Given the description of an element on the screen output the (x, y) to click on. 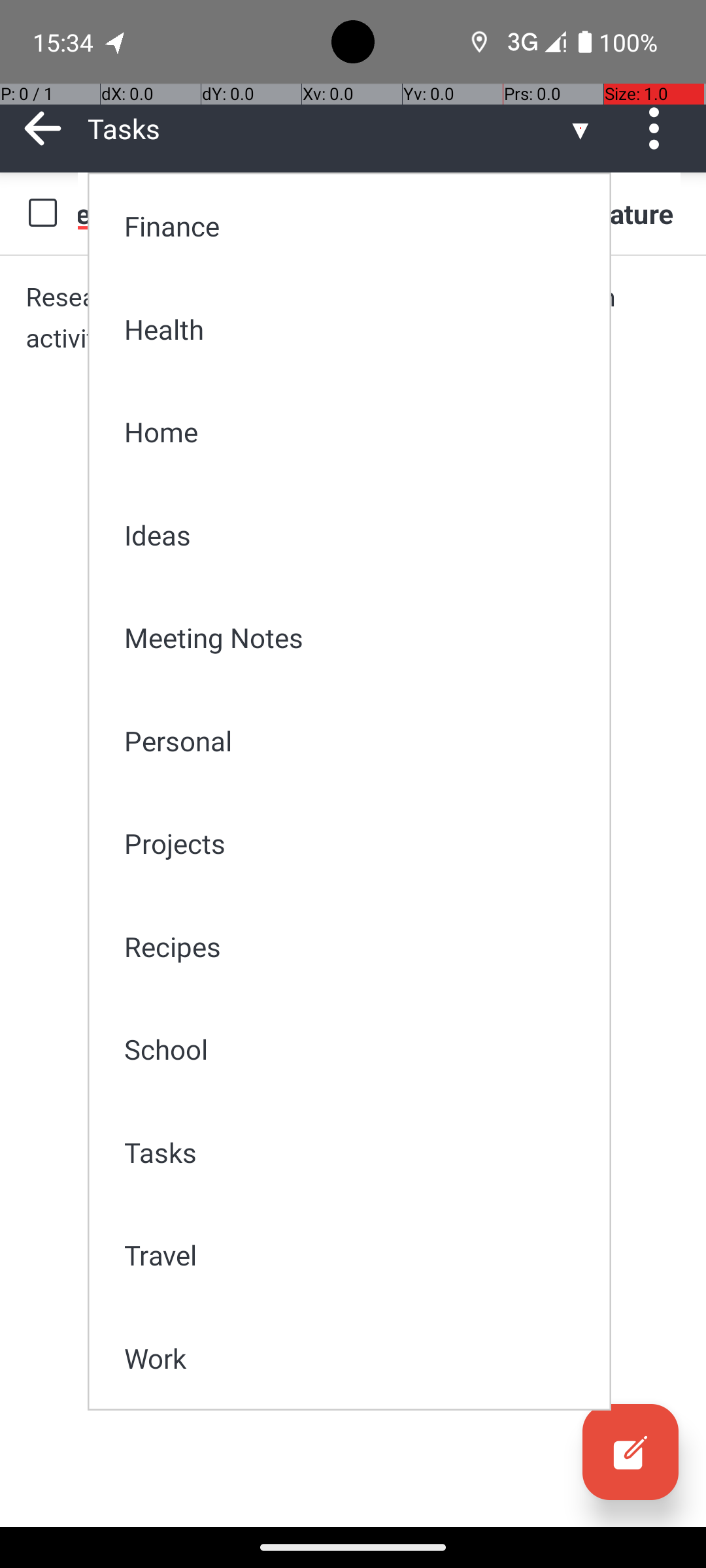
Finance Element type: android.widget.TextView (358, 225)
Health Element type: android.widget.TextView (358, 328)
Ideas Element type: android.widget.TextView (358, 534)
Meeting Notes Element type: android.widget.TextView (358, 636)
Personal Element type: android.widget.TextView (358, 740)
Recipes Element type: android.widget.TextView (358, 945)
School Element type: android.widget.TextView (358, 1048)
Tasks Element type: android.widget.TextView (358, 1151)
Travel Element type: android.widget.TextView (358, 1254)
Work Element type: android.widget.TextView (358, 1357)
